Given the description of an element on the screen output the (x, y) to click on. 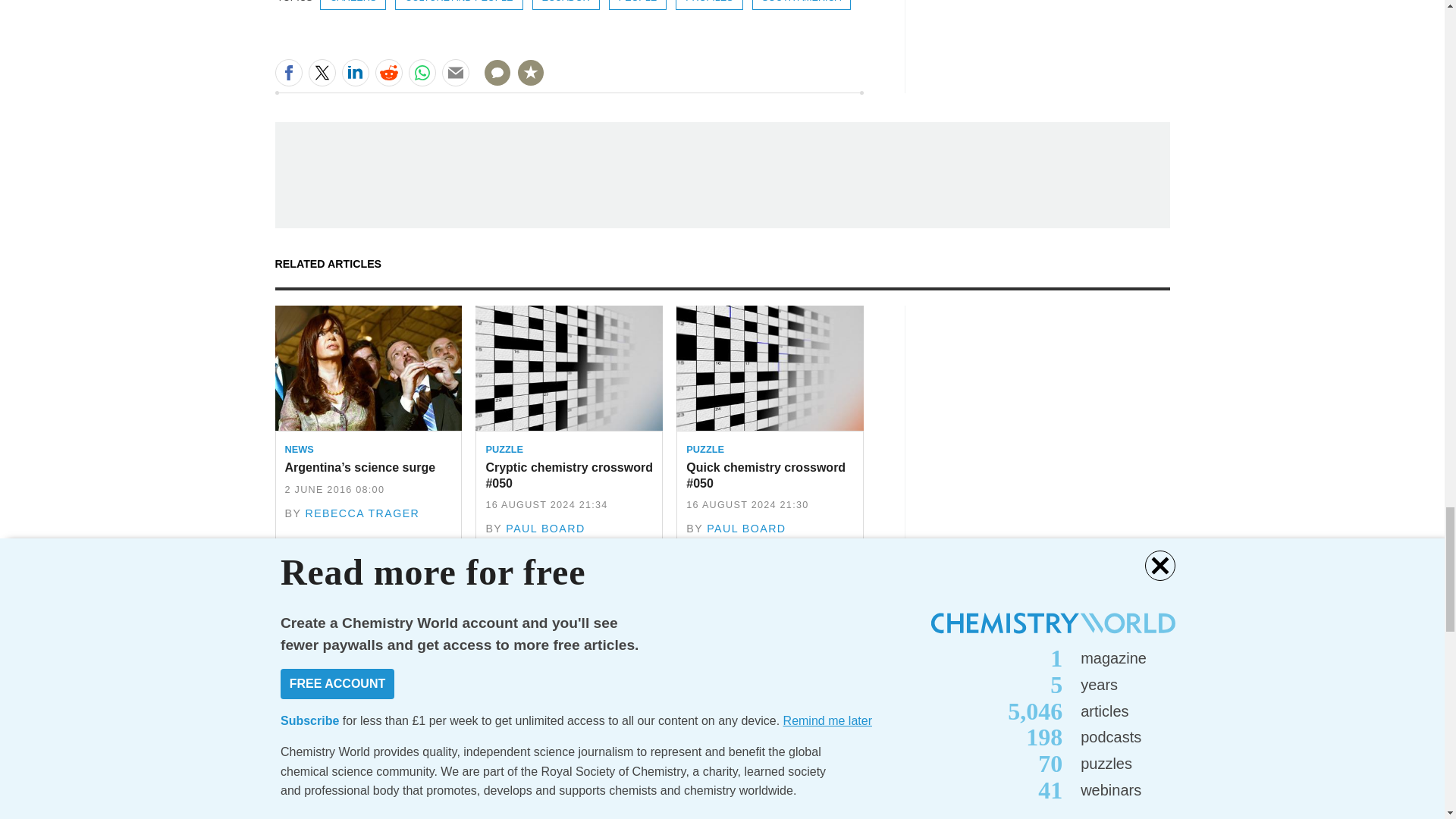
NO COMMENTS (492, 81)
Share this by email (454, 72)
Share this on WhatsApp (421, 72)
Share this on Reddit (387, 72)
Share this on LinkedIn (354, 72)
Share this on Facebook (288, 72)
